Given the description of an element on the screen output the (x, y) to click on. 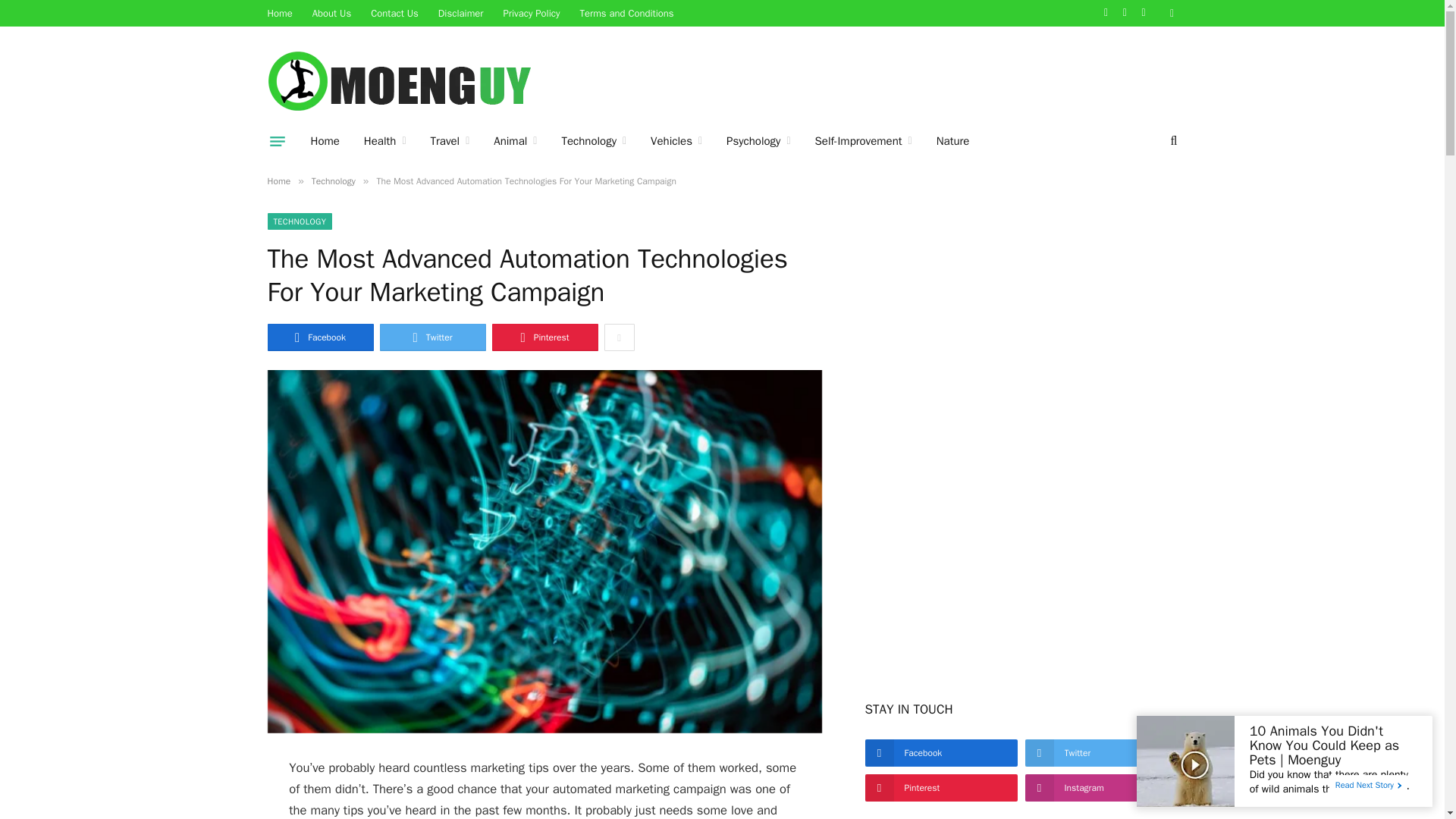
Disclaimer (460, 13)
Home (325, 140)
Health (385, 140)
Home (279, 13)
Terms and Conditions (627, 13)
Switch to Dark Design - easier on eyes. (1169, 12)
About Us (331, 13)
Contact Us (394, 13)
Privacy Policy (531, 13)
Moenguy (406, 81)
